Given the description of an element on the screen output the (x, y) to click on. 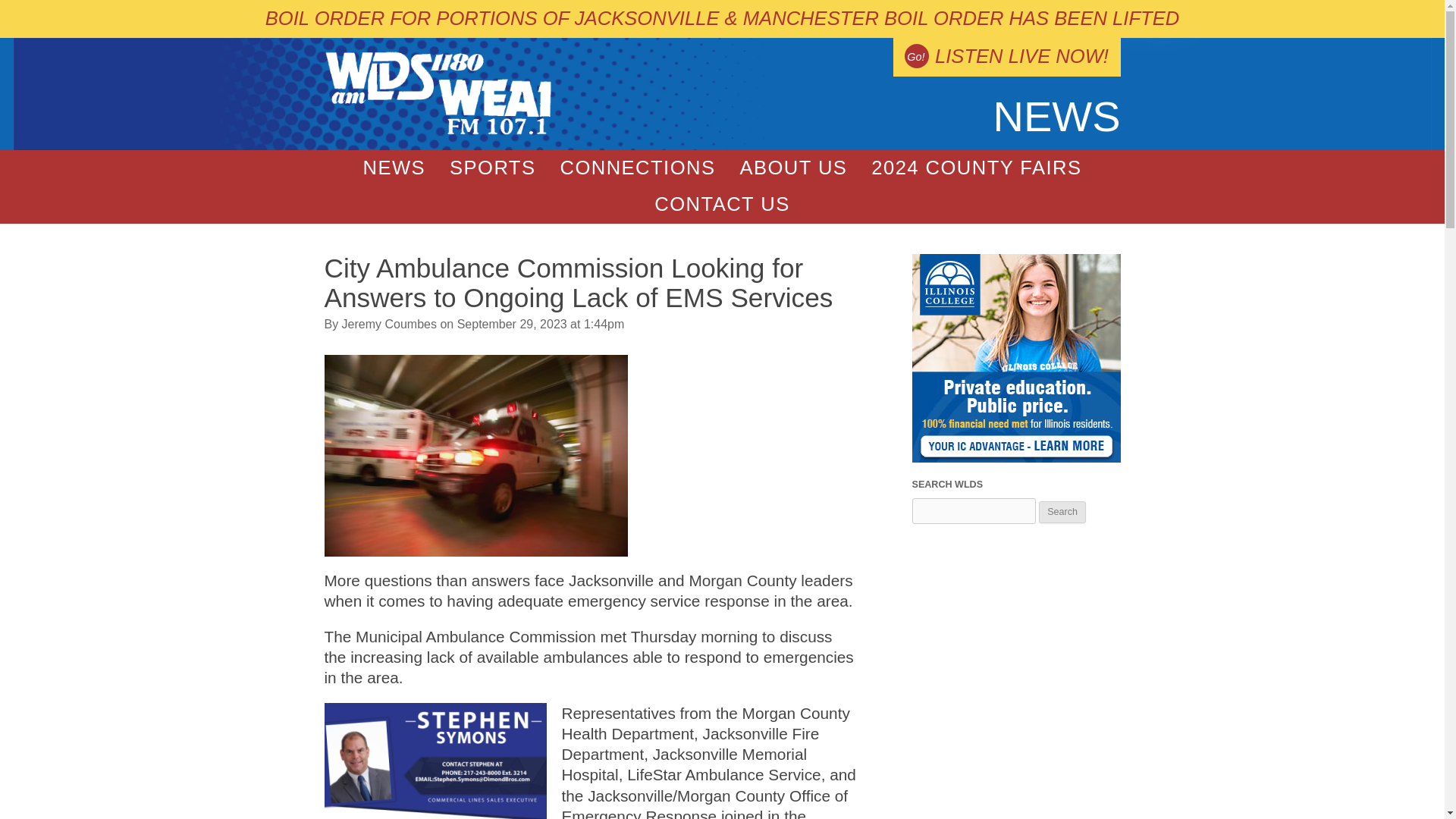
Search (1062, 512)
SPORTS (492, 167)
CONTACT US (722, 204)
LISTEN LIVE NOW! (1006, 56)
2024 COUNTY FAIRS (976, 167)
CONNECTIONS (636, 167)
NEWS (394, 167)
ABOUT US (792, 167)
WLDS (437, 131)
Search (1062, 512)
